Given the description of an element on the screen output the (x, y) to click on. 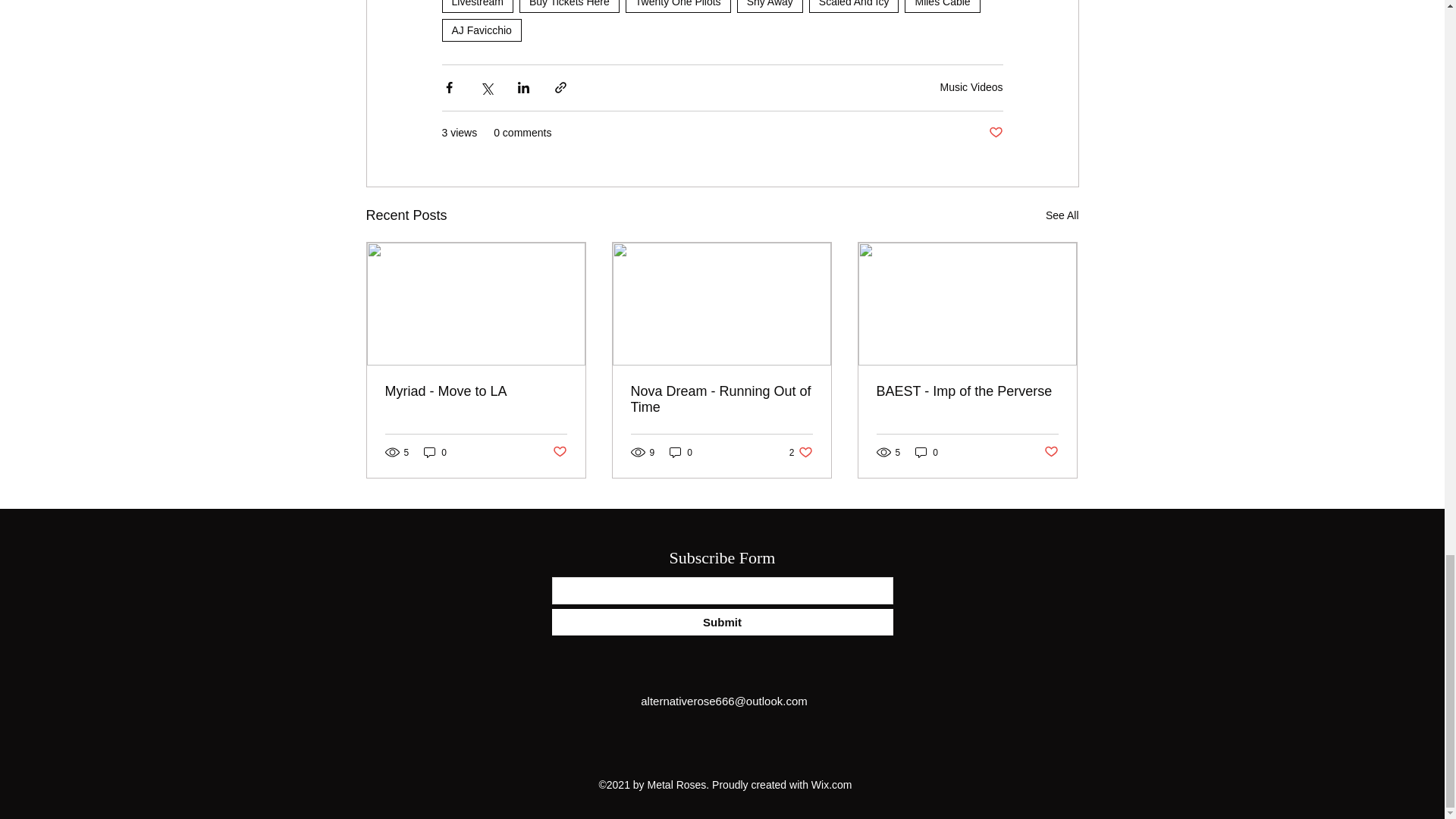
AJ Favicchio (481, 29)
Shy Away (769, 6)
Livestream (476, 6)
Twenty One Pilots (678, 6)
Buy Tickets Here (569, 6)
Miles Cable (941, 6)
Scaled And Icy (854, 6)
